Given the description of an element on the screen output the (x, y) to click on. 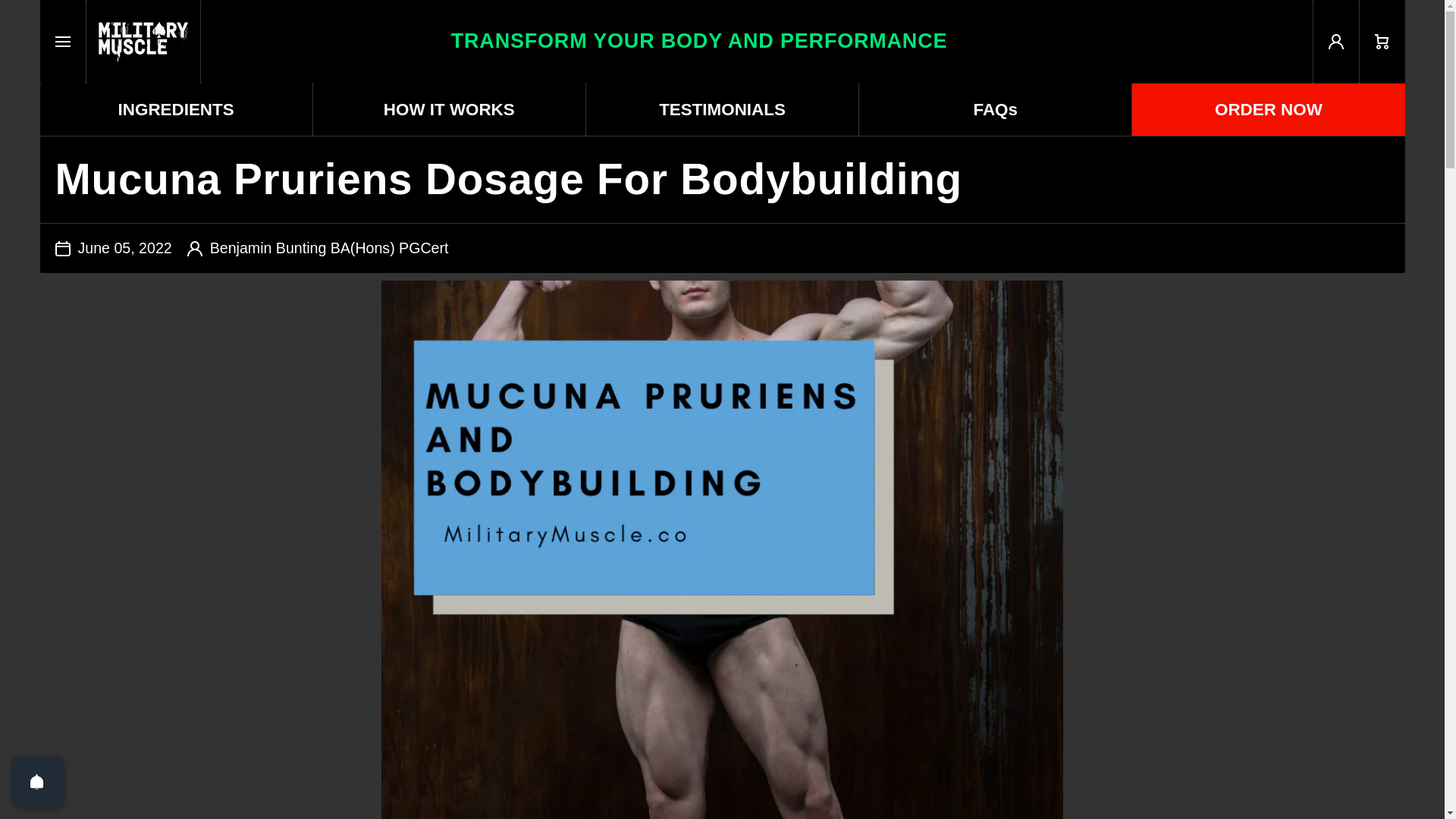
HOW IT WORKS (449, 109)
INGREDIENTS (175, 109)
FAQs (995, 109)
ORDER NOW (755, 41)
TESTIMONIALS (1268, 109)
